Given the description of an element on the screen output the (x, y) to click on. 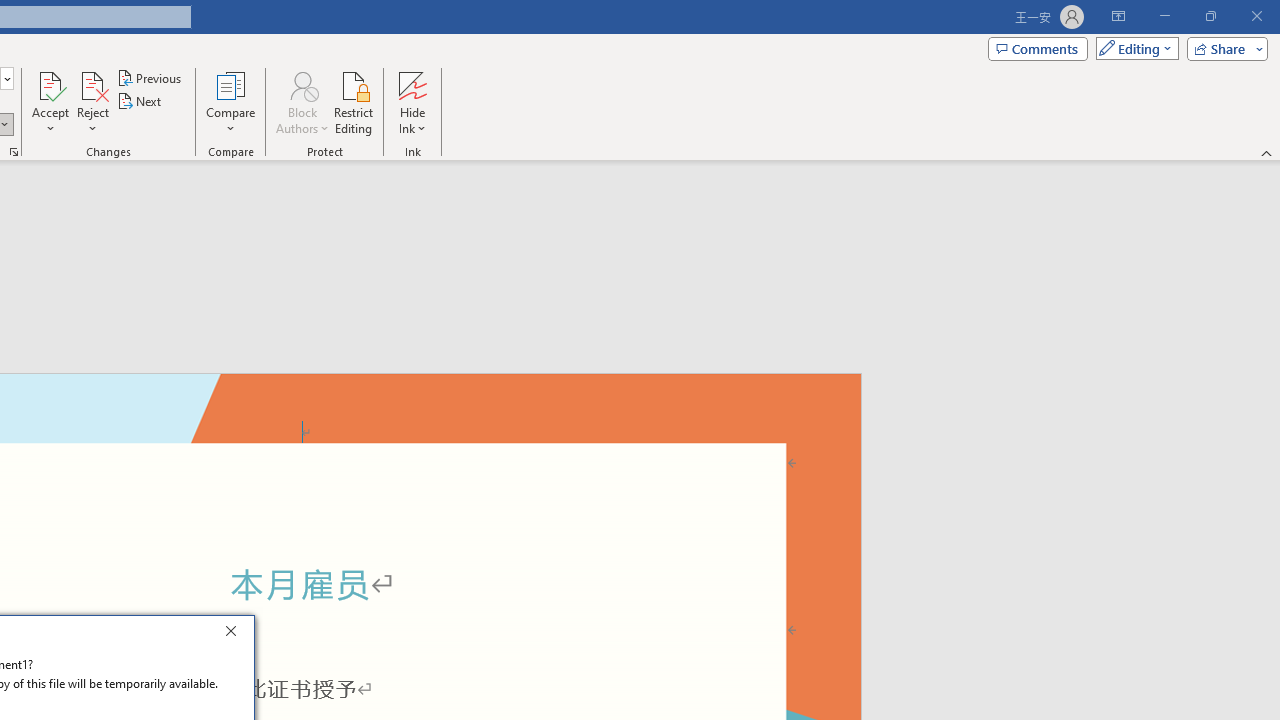
Accept (50, 102)
Reject and Move to Next (92, 84)
Block Authors (302, 84)
Block Authors (302, 102)
Accept and Move to Next (50, 84)
Compare (230, 102)
Restrict Editing (353, 102)
